Given the description of an element on the screen output the (x, y) to click on. 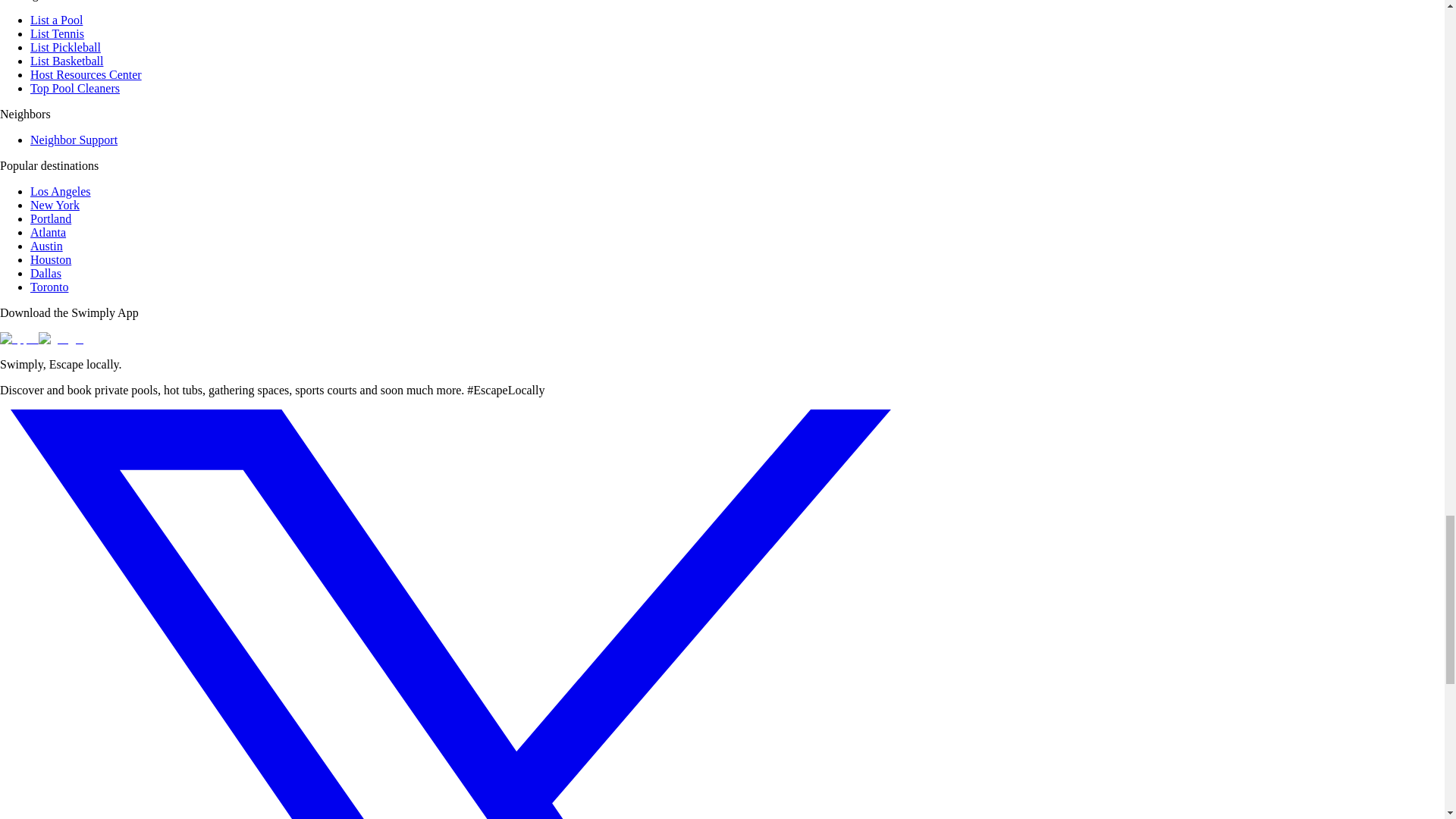
Top Pool Cleaners (74, 88)
Los Angeles (60, 191)
List Tennis (57, 33)
List Pickleball (65, 47)
List a Pool (56, 19)
Host Resources Center (85, 74)
List Basketball (66, 60)
Neighbor Support (73, 139)
